Given the description of an element on the screen output the (x, y) to click on. 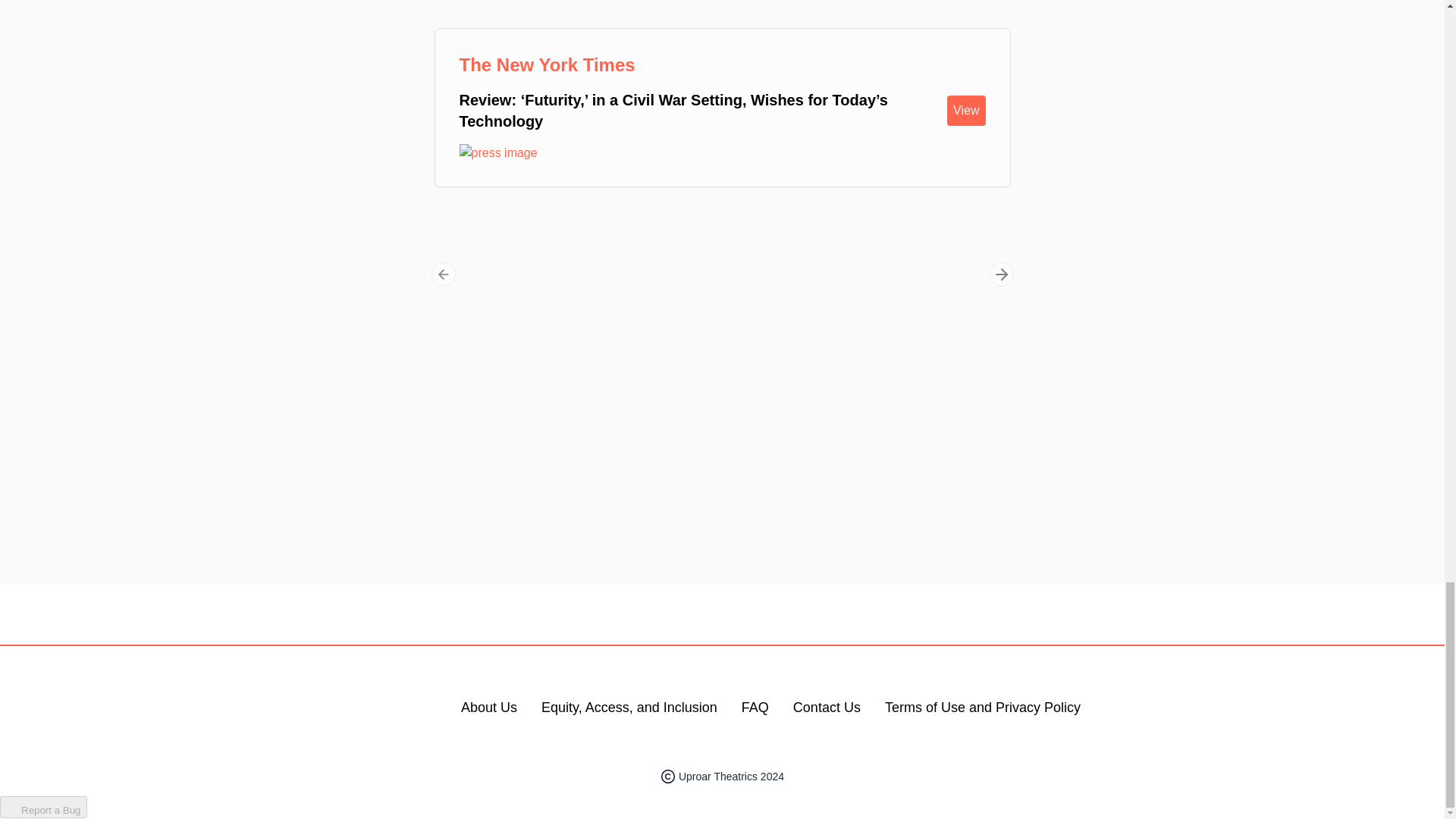
About Us (488, 707)
Contact Us (826, 707)
Terms of Use and Privacy Policy (982, 707)
Equity, Access, and Inclusion (629, 707)
Previous slide (442, 274)
Next slide (1000, 274)
FAQ (754, 707)
